Given the description of an element on the screen output the (x, y) to click on. 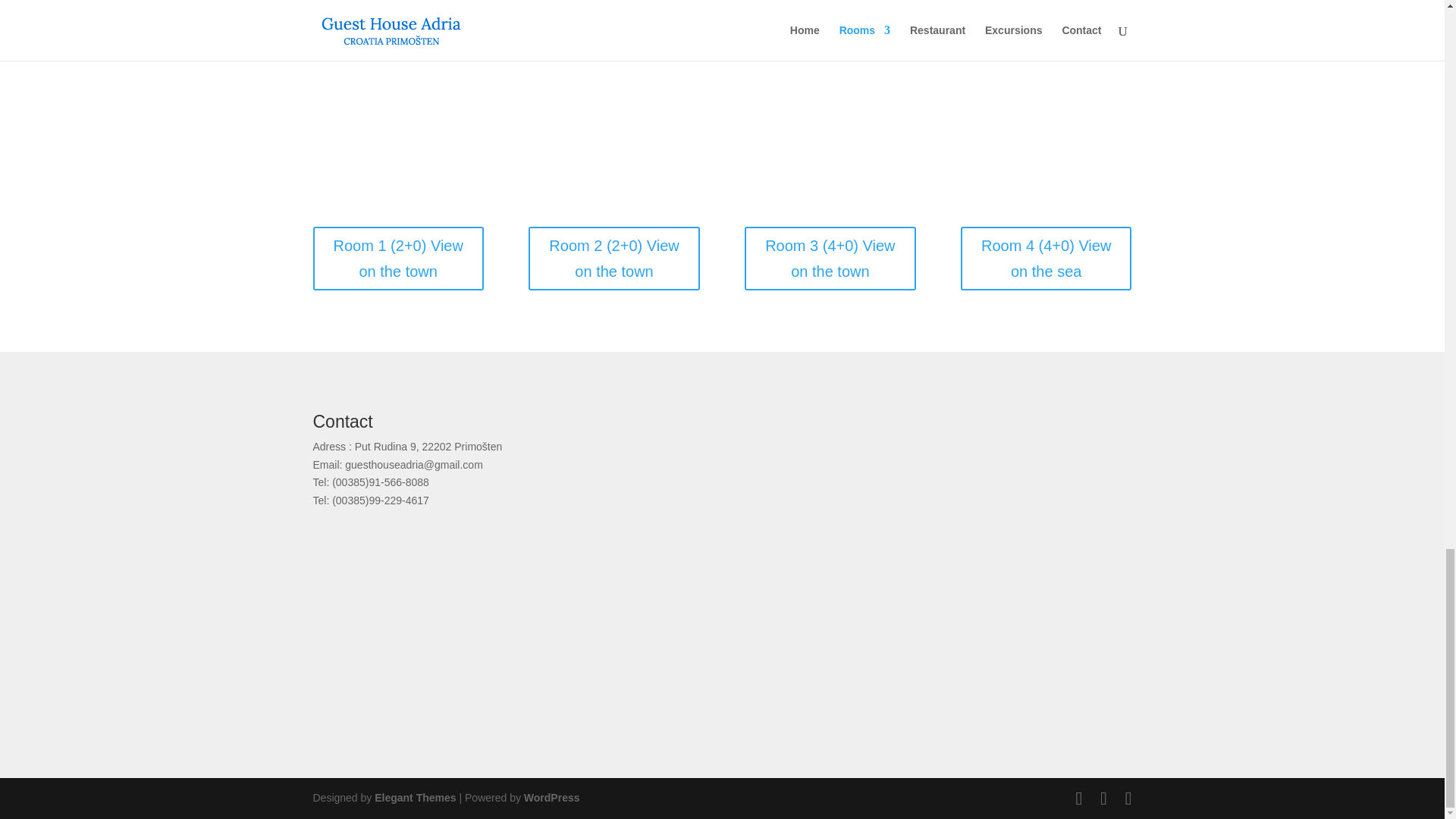
Elegant Themes (414, 797)
WordPress (551, 797)
Premium WordPress Themes (414, 797)
